Given the description of an element on the screen output the (x, y) to click on. 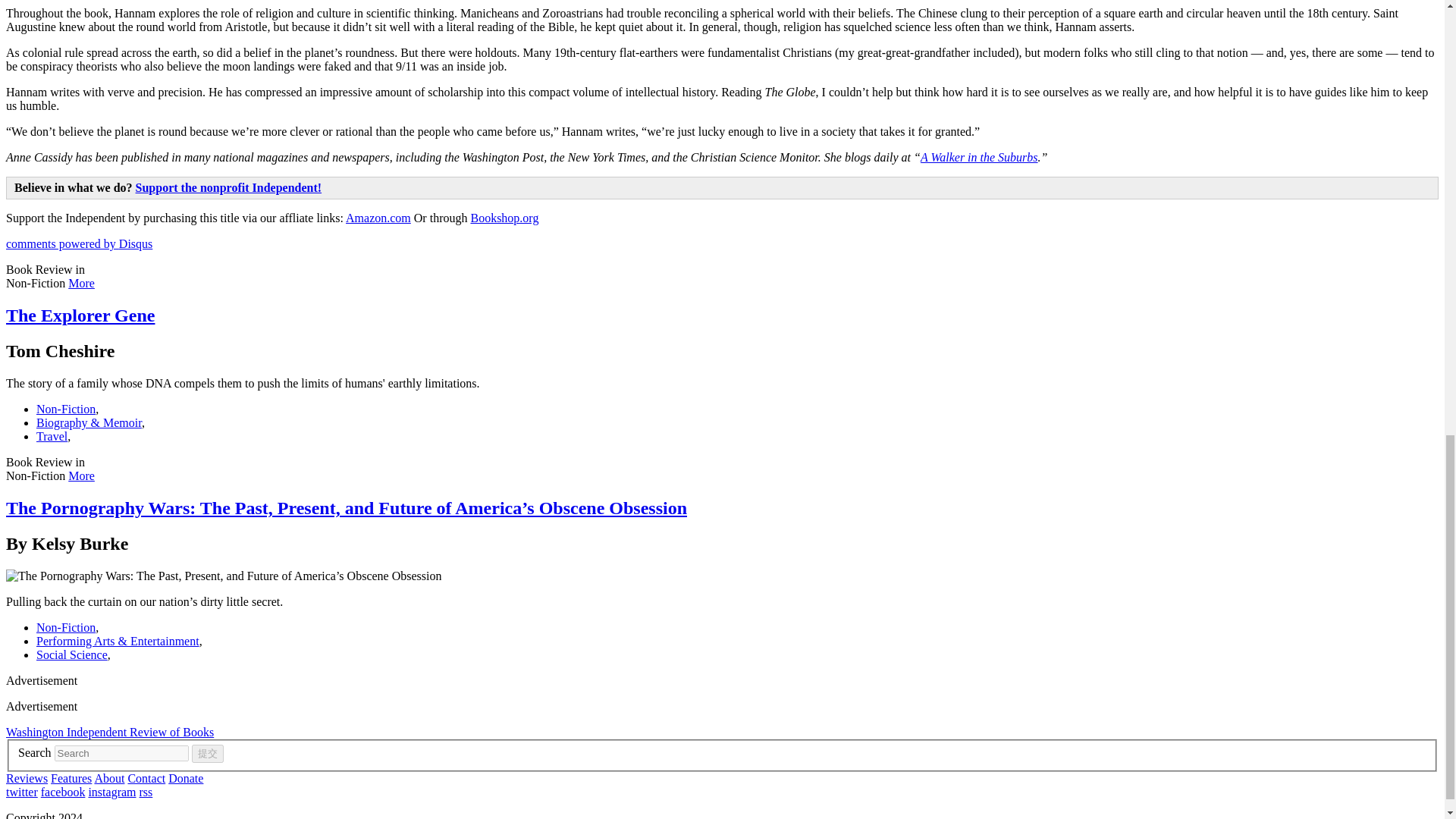
Travel (51, 436)
comments powered by Disqus (78, 243)
Social Science (71, 654)
More (81, 475)
More (81, 282)
Non-Fiction (66, 626)
A Walker in the Suburbs (979, 156)
Amazon.com (378, 217)
Washington Independent Review of Books (109, 731)
The Explorer Gene (79, 315)
Support the nonprofit Independent! (228, 187)
Bookshop.org (504, 217)
Non-Fiction (66, 408)
